Given the description of an element on the screen output the (x, y) to click on. 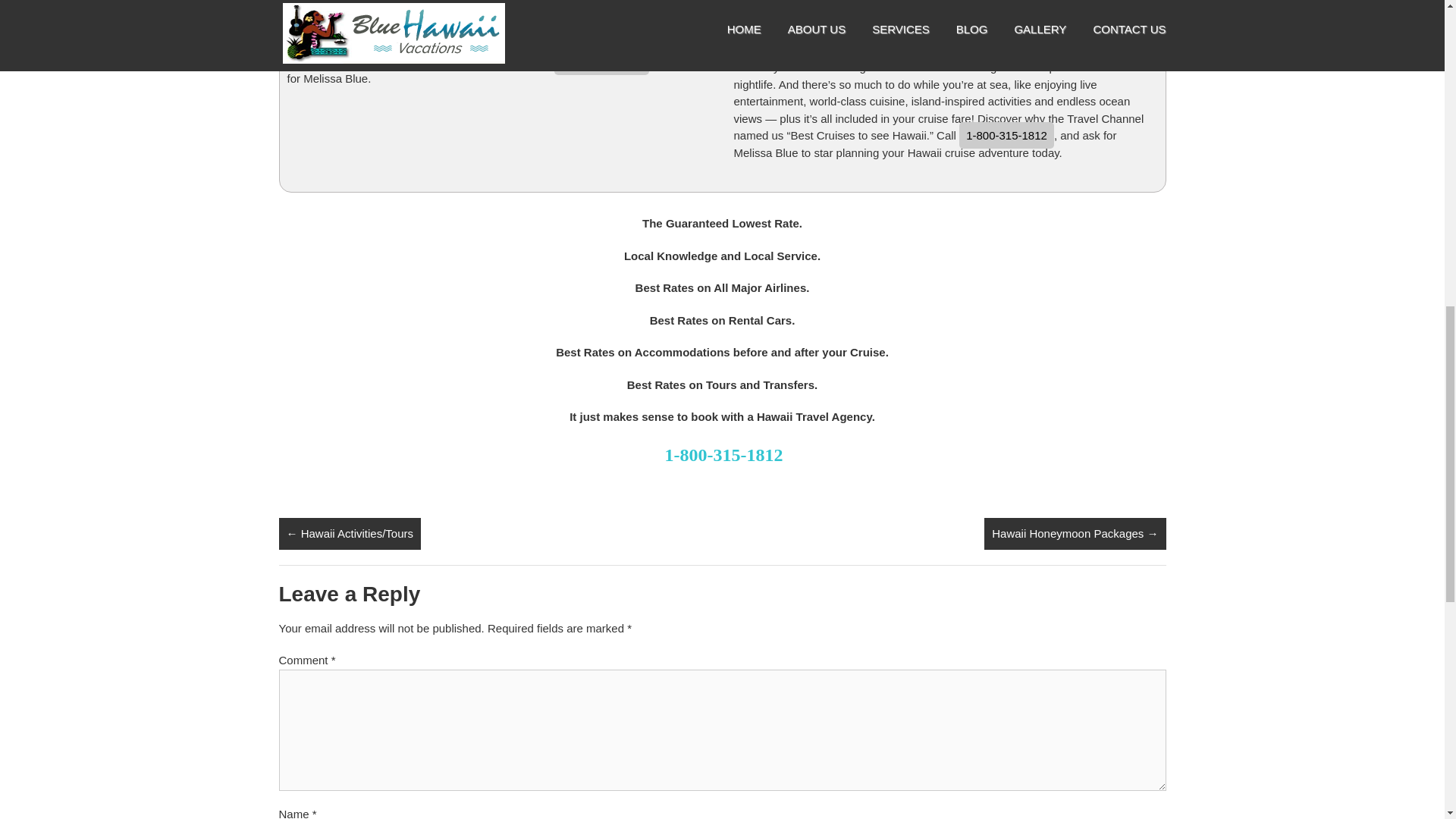
1-800-315-1812 (601, 61)
1-800-315-1812 (1006, 135)
